Given the description of an element on the screen output the (x, y) to click on. 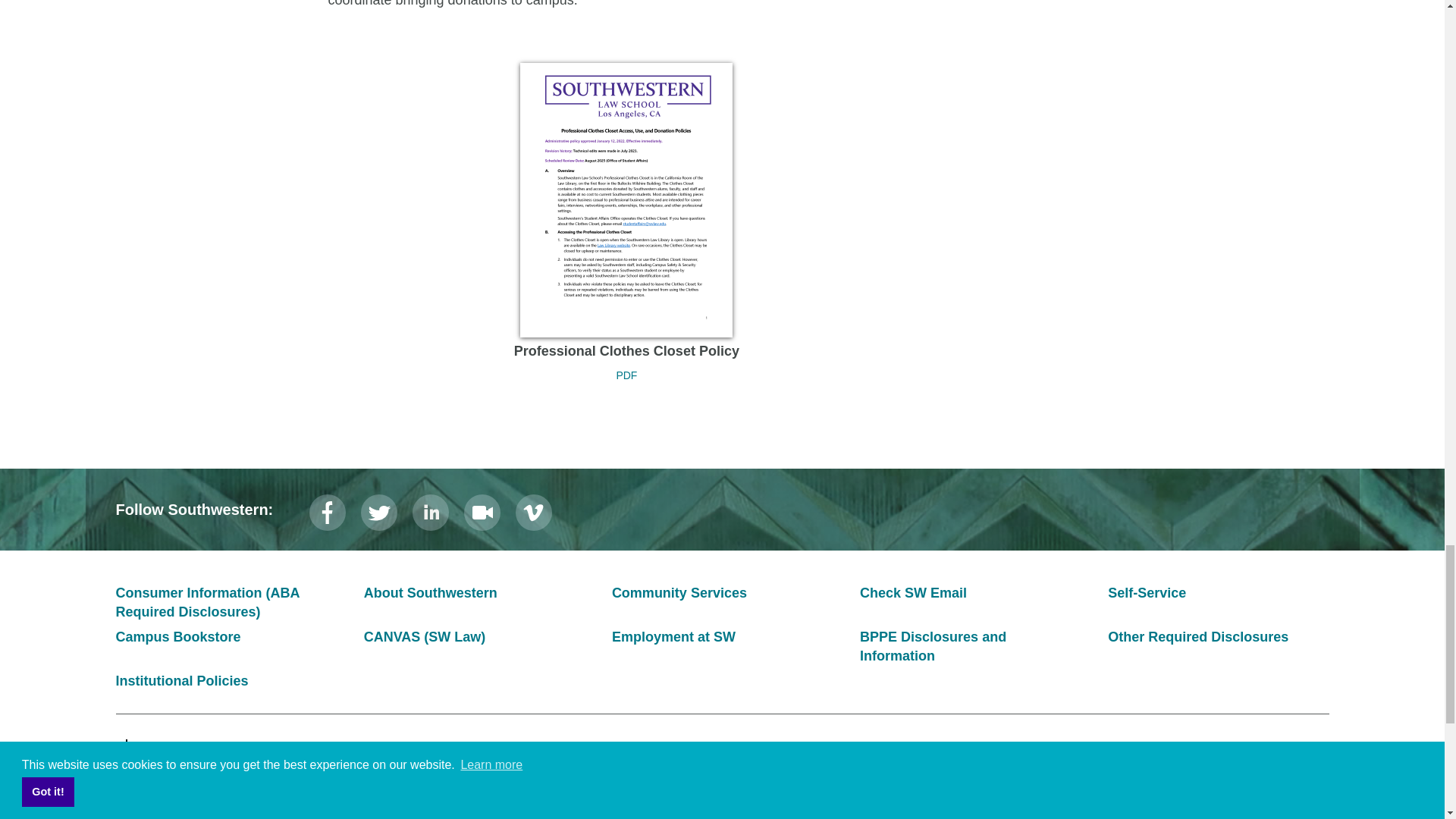
On-Campus Bookstore is in Westmoreland basement (177, 636)
